Given the description of an element on the screen output the (x, y) to click on. 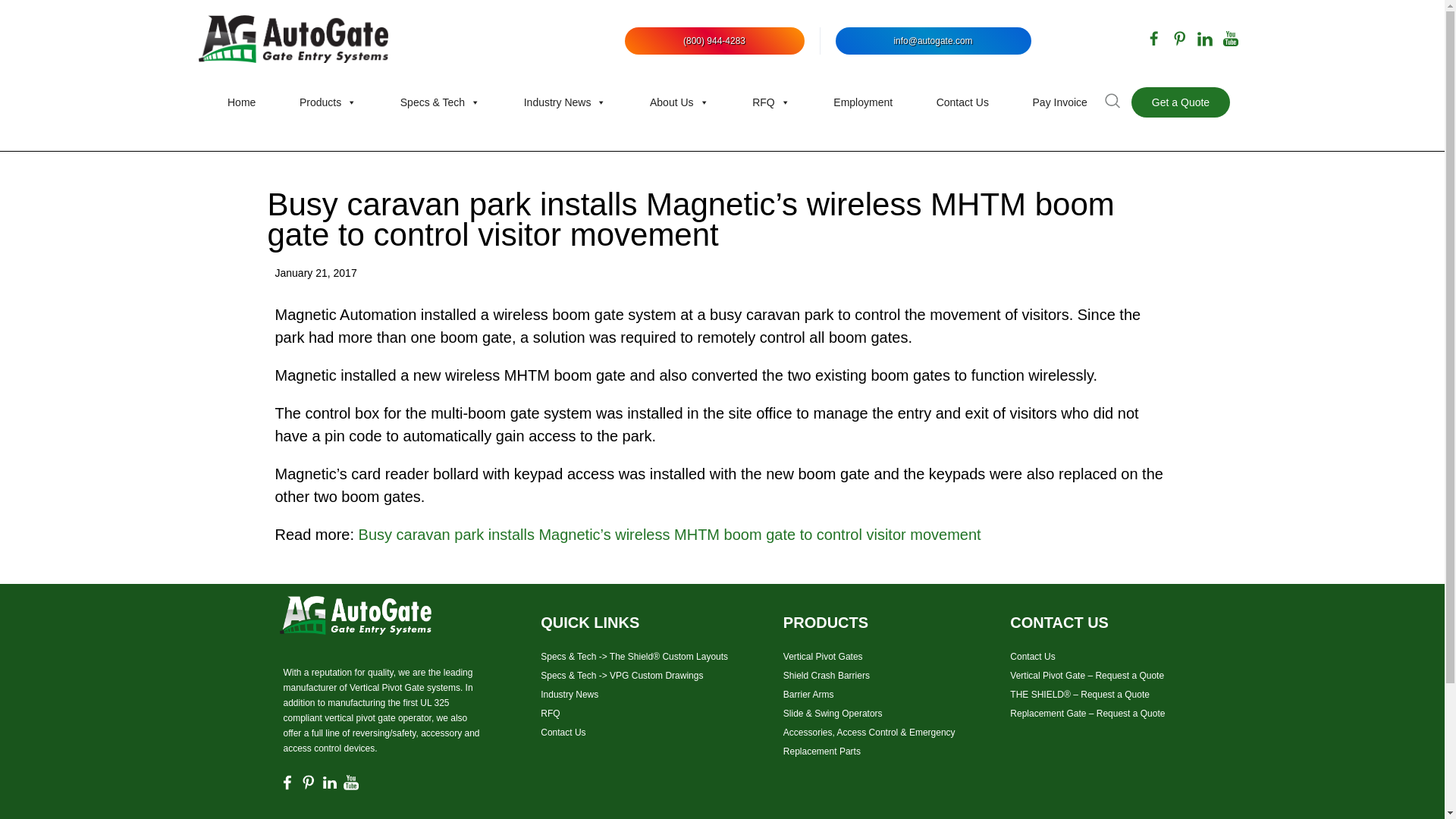
Home (241, 101)
Industry News (565, 101)
2017-01-21T07:42:50-05:00 (315, 272)
About Us (679, 101)
Products (328, 101)
